Given the description of an element on the screen output the (x, y) to click on. 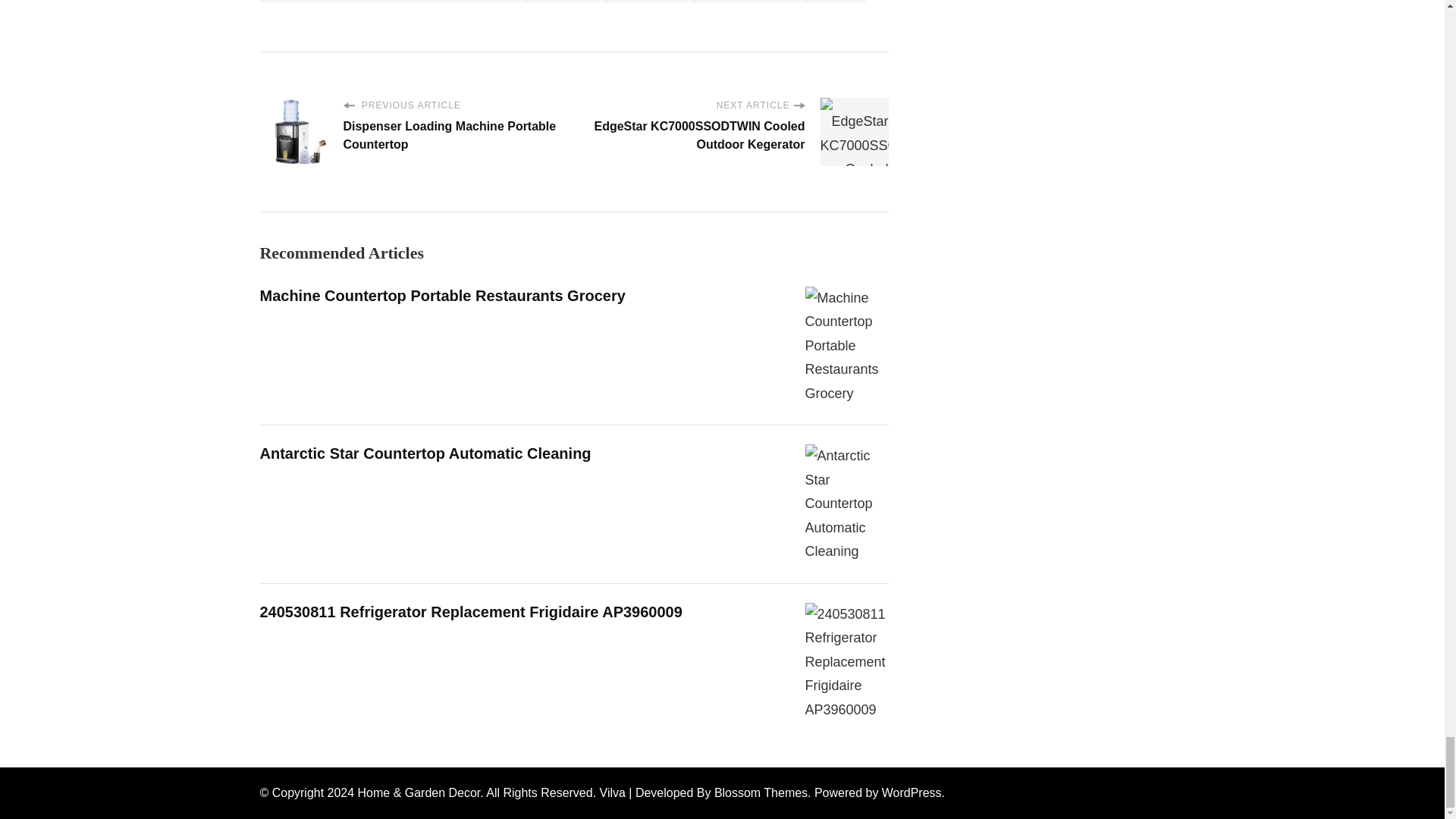
Dispenser Loading Machine Portable Countertop (293, 131)
